Given the description of an element on the screen output the (x, y) to click on. 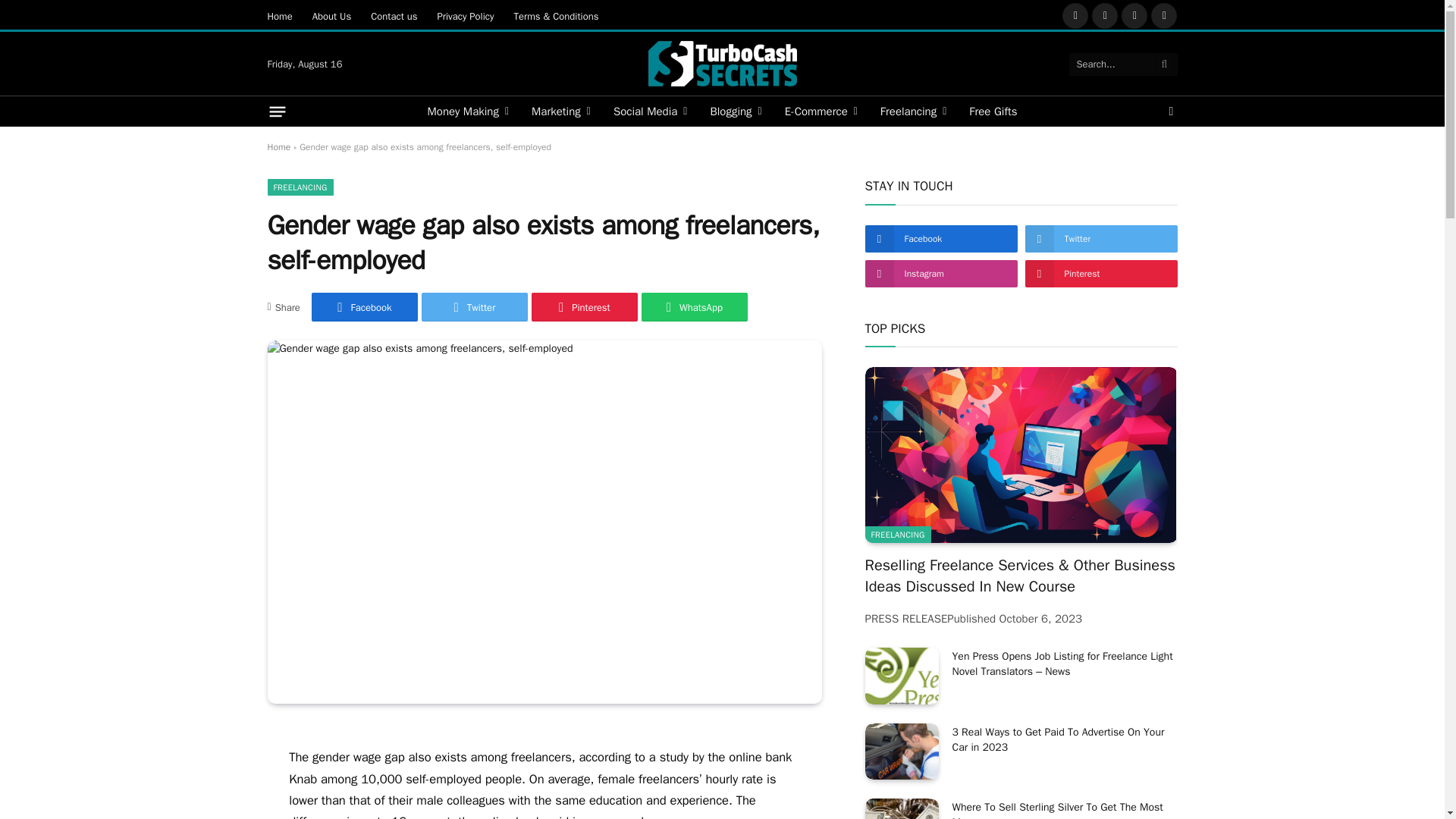
Pinterest (1163, 15)
Facebook (1074, 15)
Contact us (393, 15)
Privacy Policy (464, 15)
About Us (331, 15)
Money Making (466, 111)
TurboCashSecrets (721, 63)
Instagram (1134, 15)
Home (279, 15)
